Given the description of an element on the screen output the (x, y) to click on. 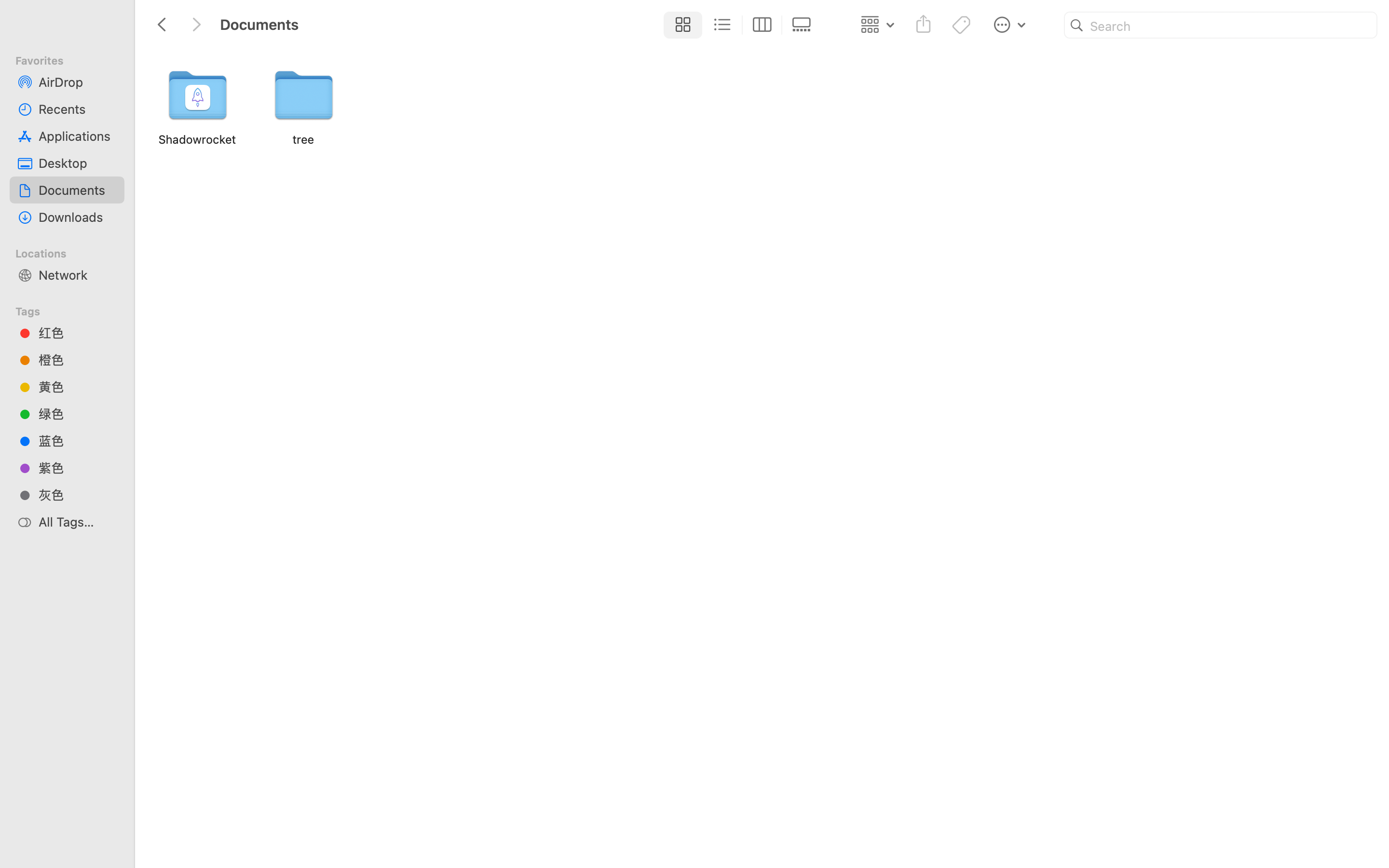
灰色 Element type: AXStaticText (77, 494)
Favorites Element type: AXStaticText (72, 59)
Network Element type: AXStaticText (77, 274)
AirDrop Element type: AXStaticText (77, 81)
紫色 Element type: AXStaticText (77, 467)
